Given the description of an element on the screen output the (x, y) to click on. 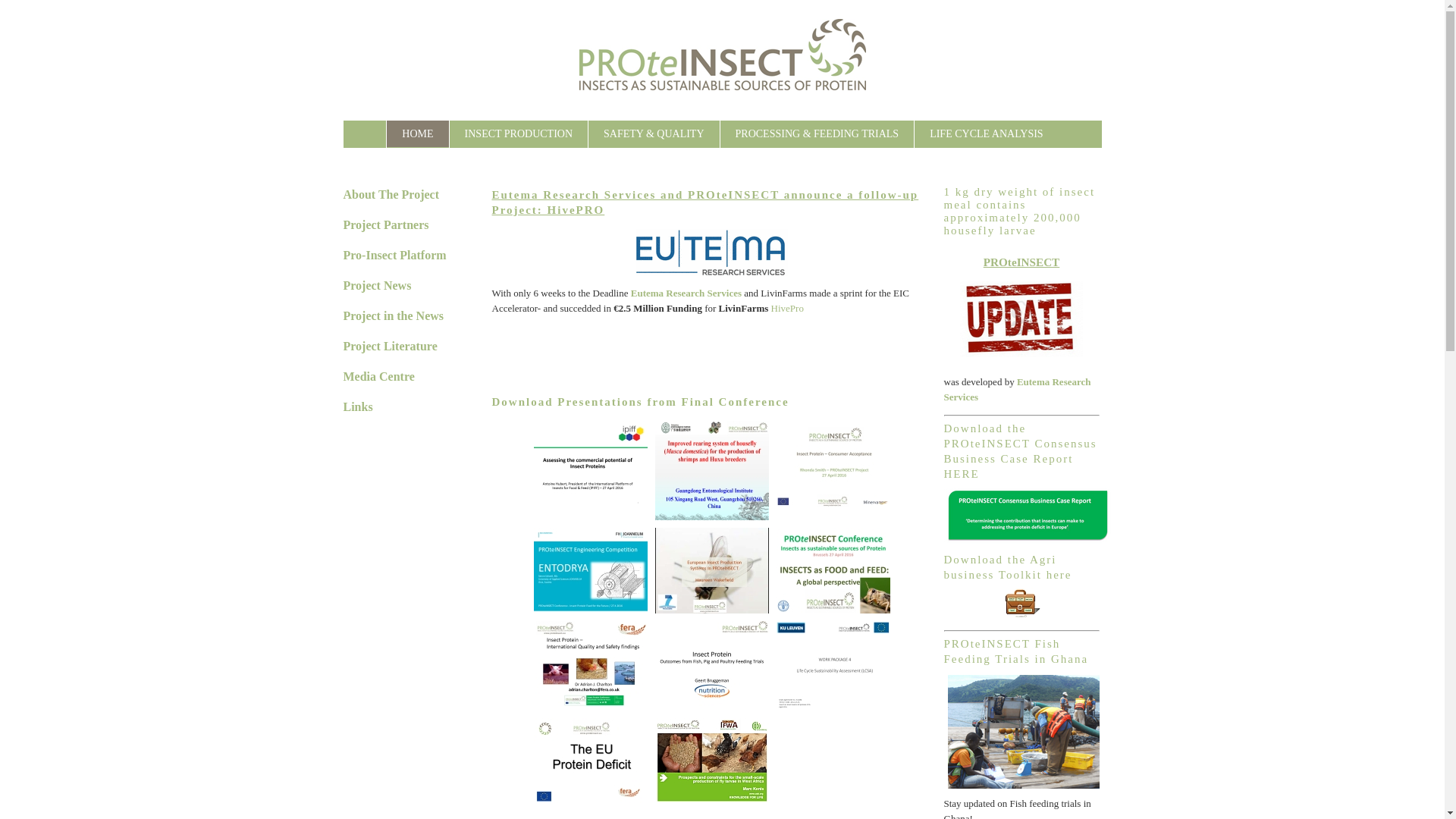
Project in the News (392, 315)
Eutema Research Services (685, 293)
INSECT PRODUCTION (518, 133)
About The Project (390, 194)
HivePro (787, 308)
Opens external link in new window (787, 308)
Media Centre (377, 376)
LIFE CYCLE ANALYSIS (986, 133)
Project News (376, 285)
Pro-Insect Platform (393, 254)
Project Partners (384, 224)
Links (357, 406)
HOME (417, 133)
Opens external link in new window (685, 293)
